Given the description of an element on the screen output the (x, y) to click on. 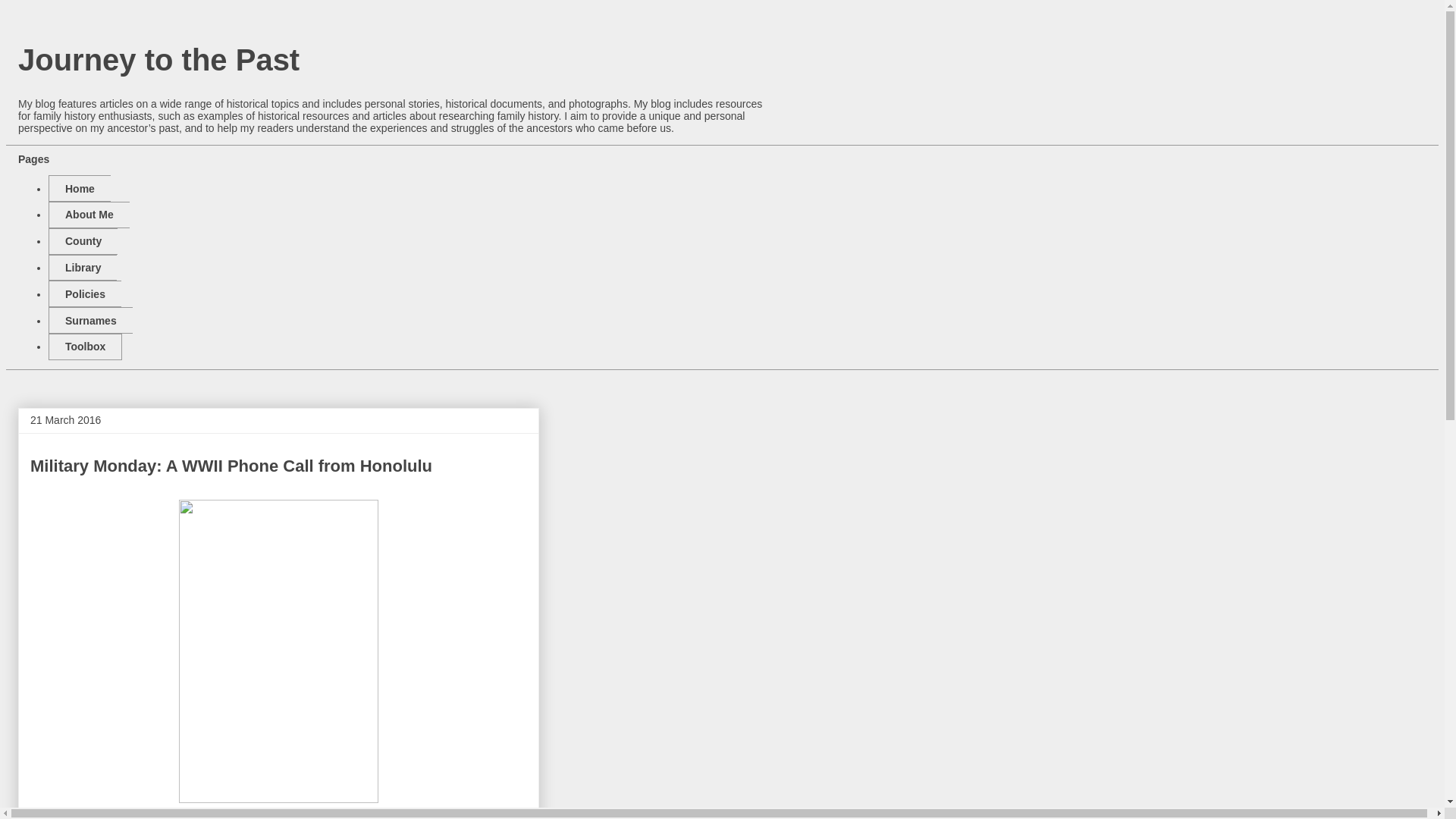
Library (82, 267)
Home (79, 188)
Journey to the Past (158, 59)
Surnames (90, 320)
Policies (84, 293)
Toolbox (85, 346)
County (82, 241)
About Me (88, 214)
